Given the description of an element on the screen output the (x, y) to click on. 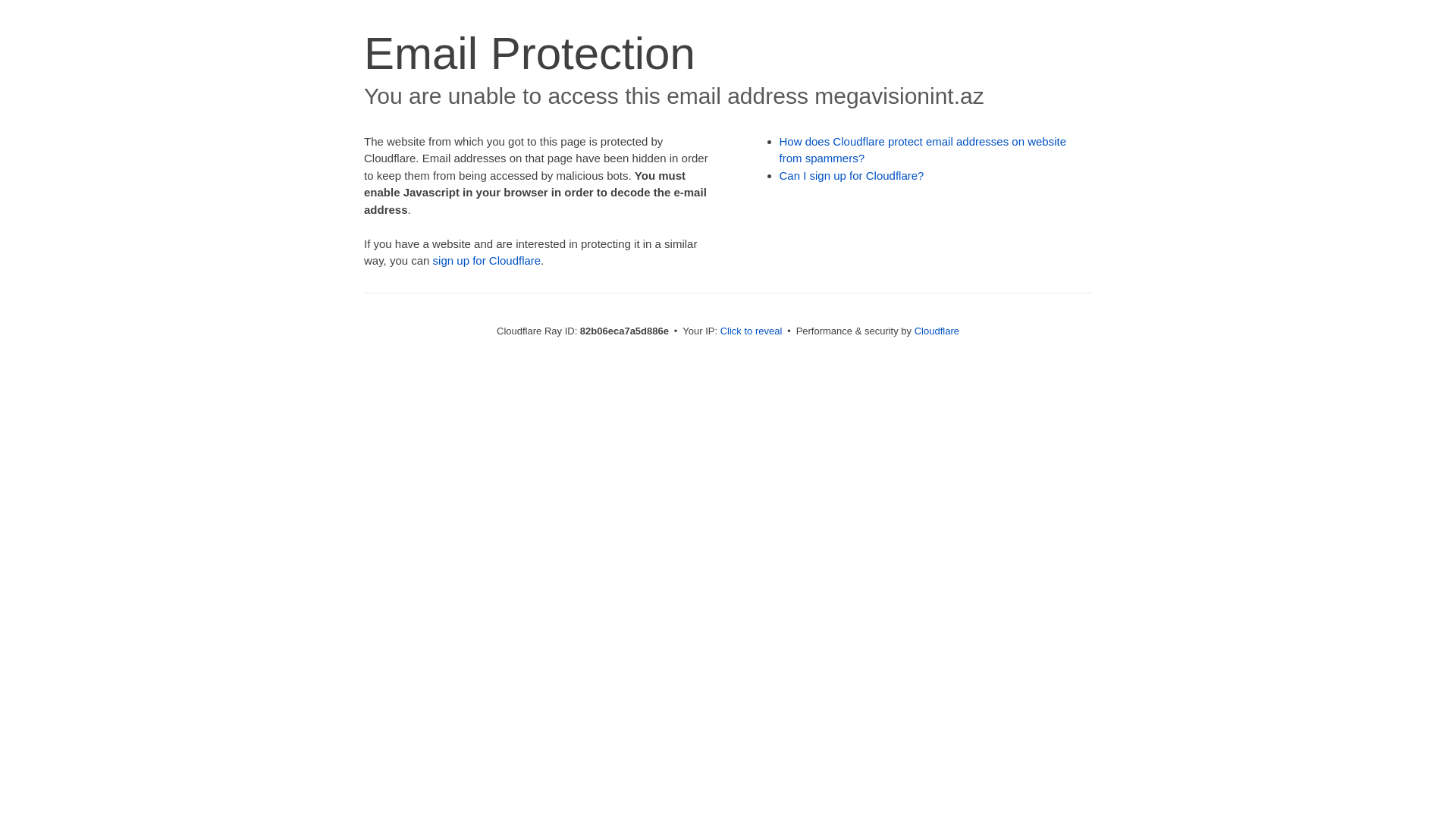
Cloudflare Element type: text (936, 330)
Click to reveal Element type: text (751, 330)
Can I sign up for Cloudflare? Element type: text (851, 175)
sign up for Cloudflare Element type: text (487, 260)
